Given the description of an element on the screen output the (x, y) to click on. 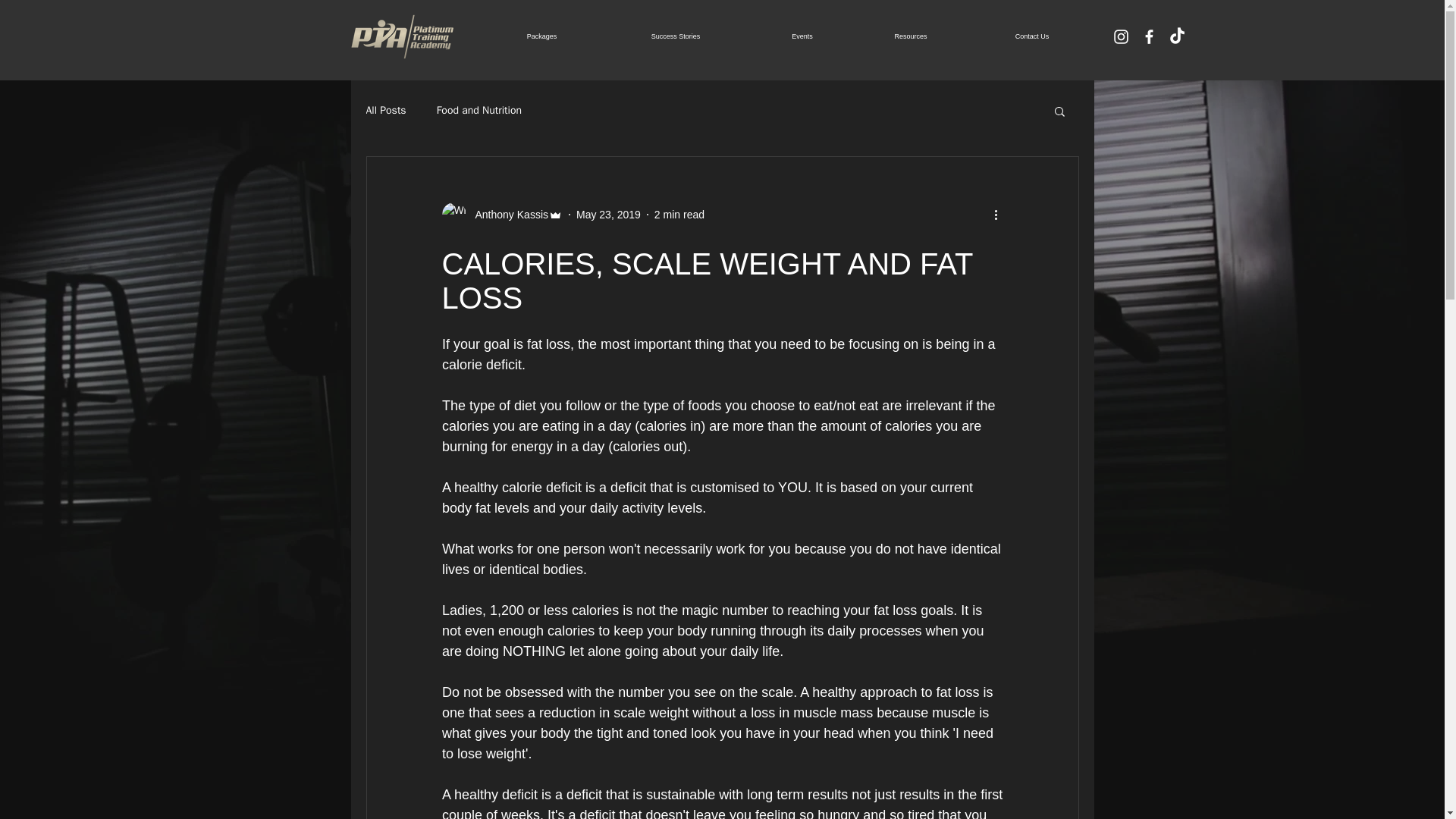
Contact Us (1032, 36)
Anthony Kassis (506, 213)
Packages (540, 36)
Food and Nutrition (478, 110)
Anthony Kassis (501, 214)
Events (802, 36)
May 23, 2019 (608, 214)
2 min read (678, 214)
All Posts (385, 110)
Success Stories (674, 36)
